Given the description of an element on the screen output the (x, y) to click on. 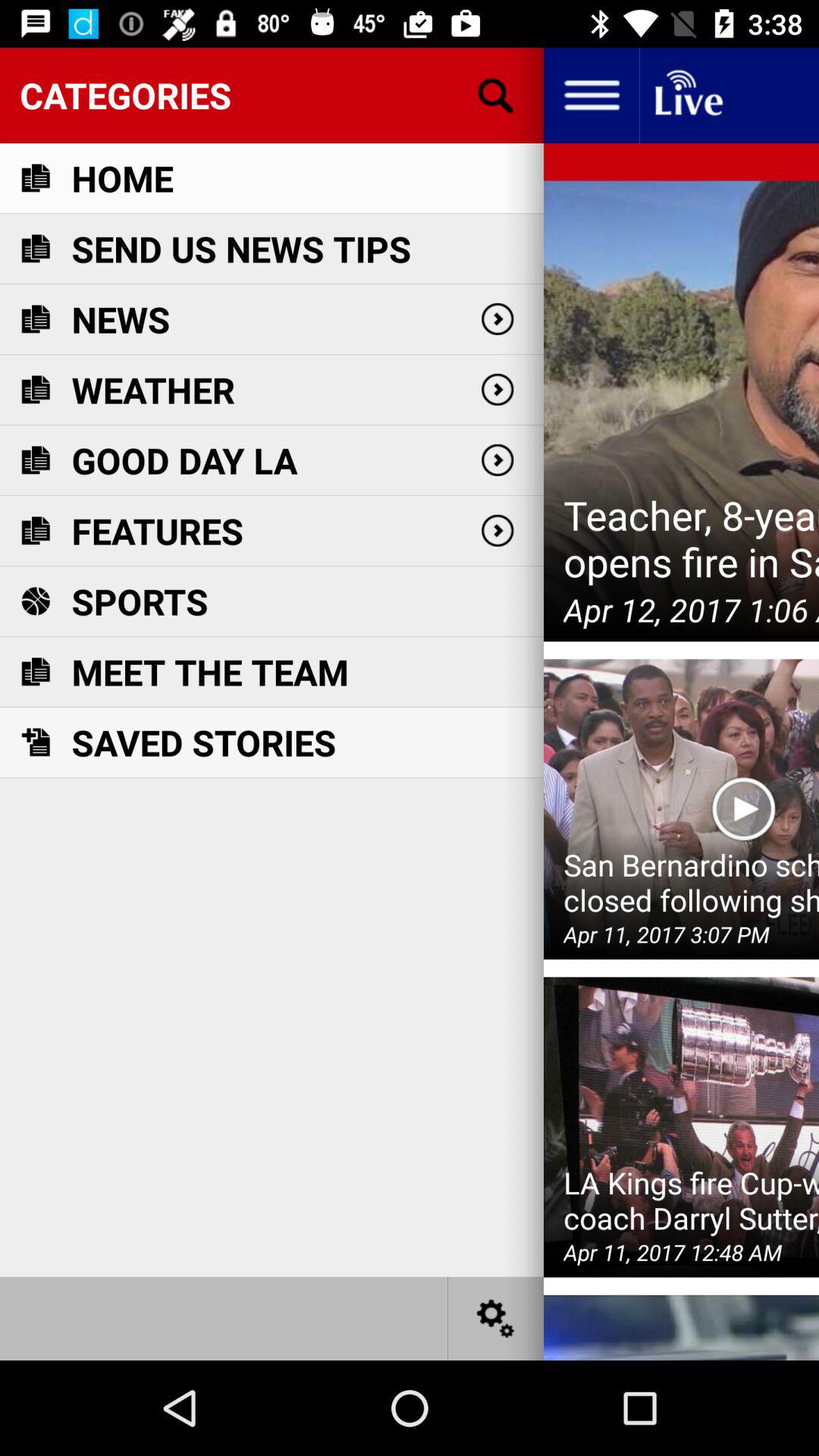
launch saved stories icon (203, 742)
